Given the description of an element on the screen output the (x, y) to click on. 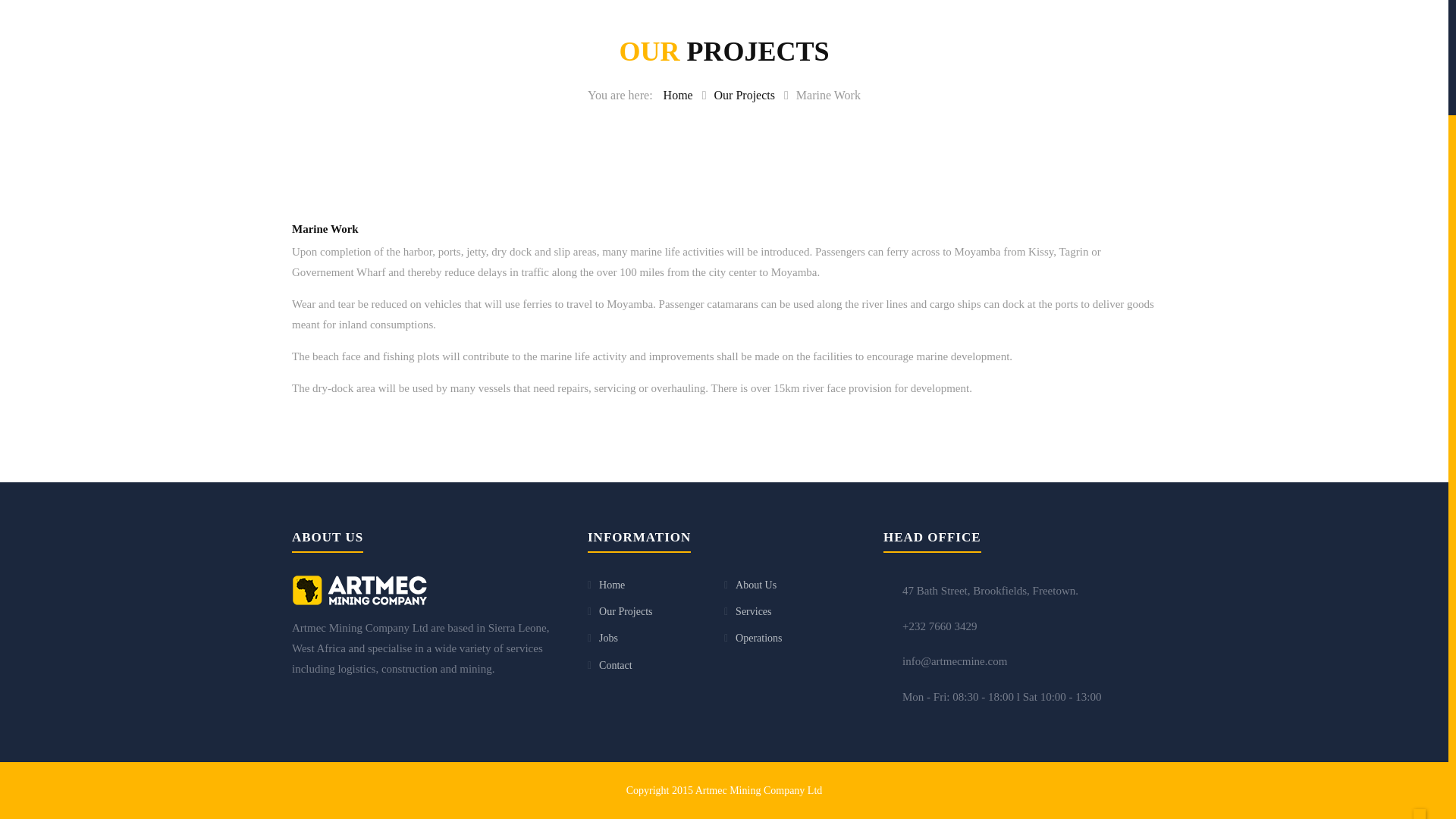
Operations (758, 637)
Home (678, 94)
Our Projects (744, 94)
Services (753, 611)
About Us (755, 584)
Home (611, 584)
Our Projects (625, 611)
Jobs (607, 637)
Contact (614, 665)
